Given the description of an element on the screen output the (x, y) to click on. 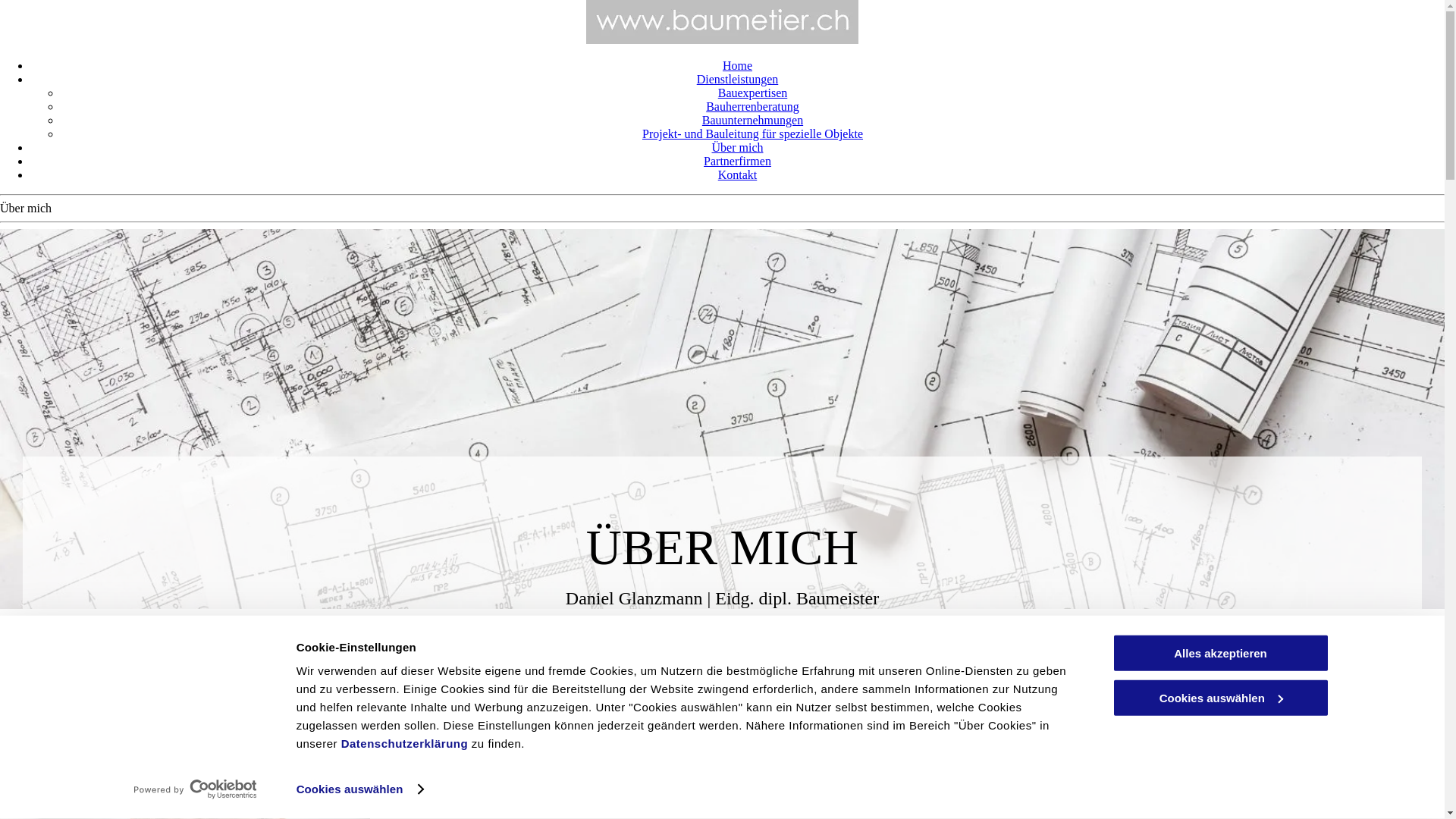
Bauunternehmungen Element type: text (752, 119)
Dienstleistungen Element type: text (737, 78)
Kontakt Element type: text (737, 174)
Bauherrenberatung Element type: text (752, 106)
Partnerfirmen Element type: text (737, 160)
Alles akzeptieren Element type: text (1219, 652)
Home Element type: text (737, 65)
Bauexpertisen Element type: text (752, 92)
